Given the description of an element on the screen output the (x, y) to click on. 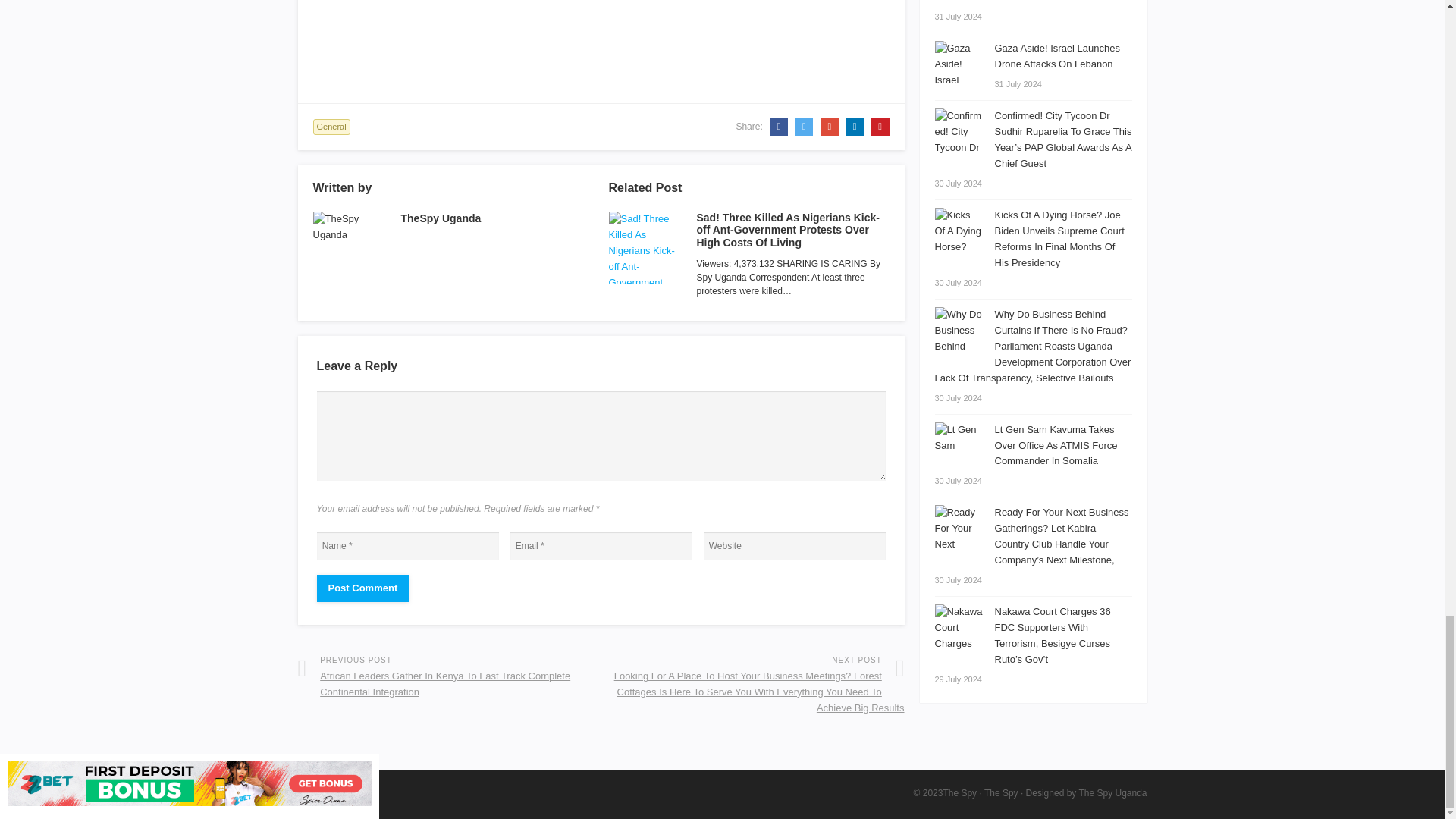
Post Comment (363, 587)
